Given the description of an element on the screen output the (x, y) to click on. 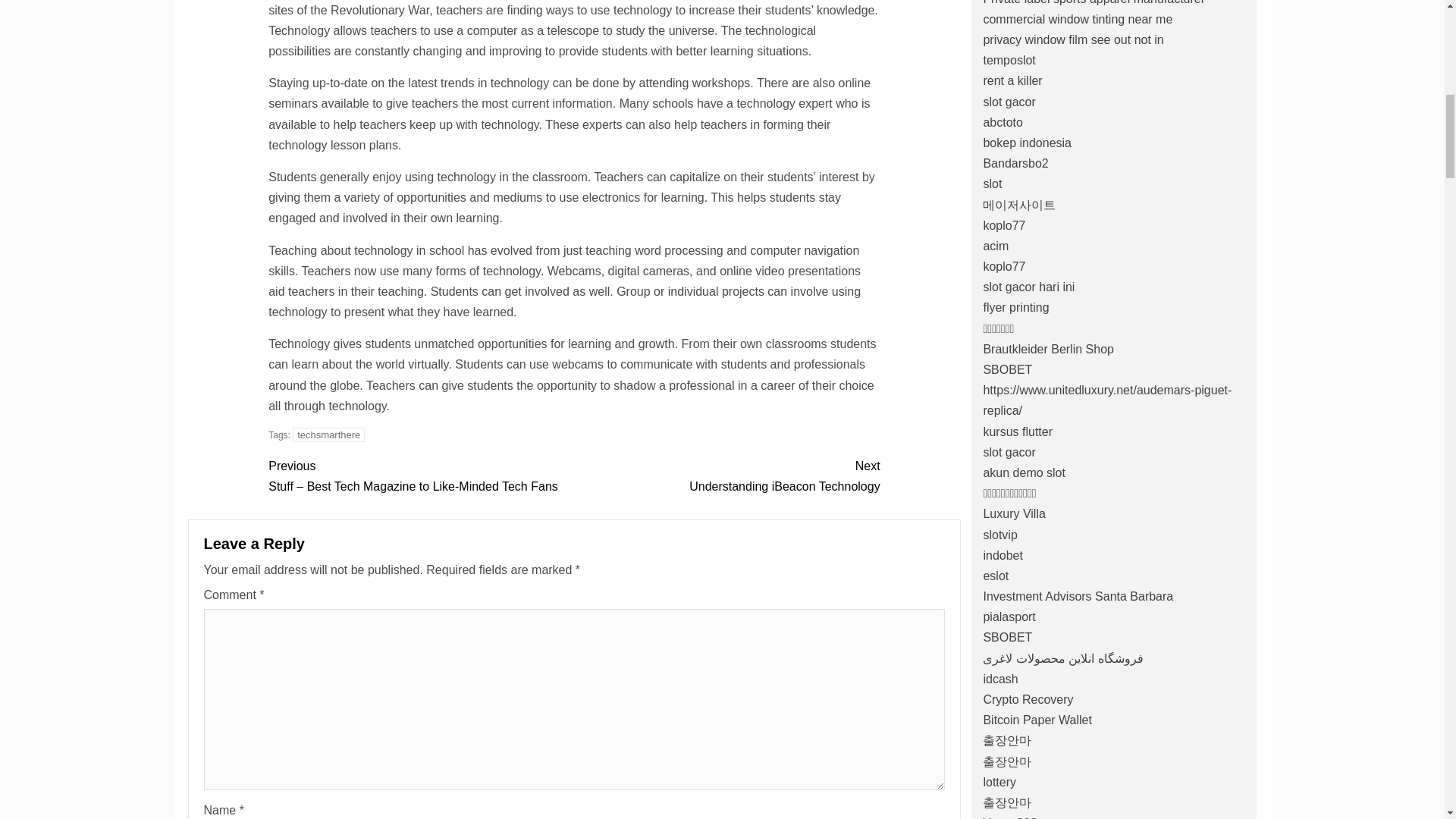
techsmarthere (726, 475)
